Given the description of an element on the screen output the (x, y) to click on. 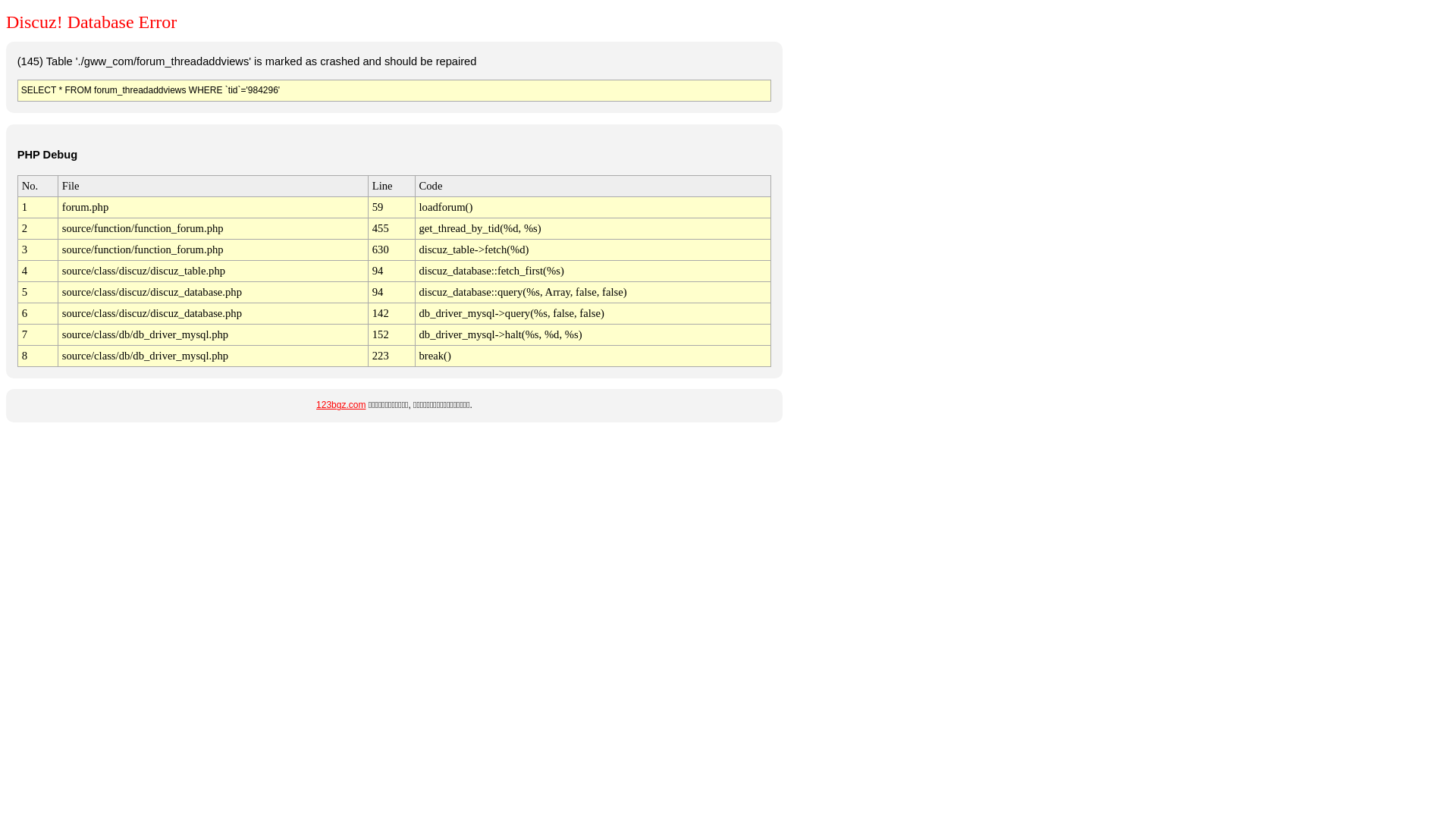
123bgz.com Element type: text (340, 404)
